Given the description of an element on the screen output the (x, y) to click on. 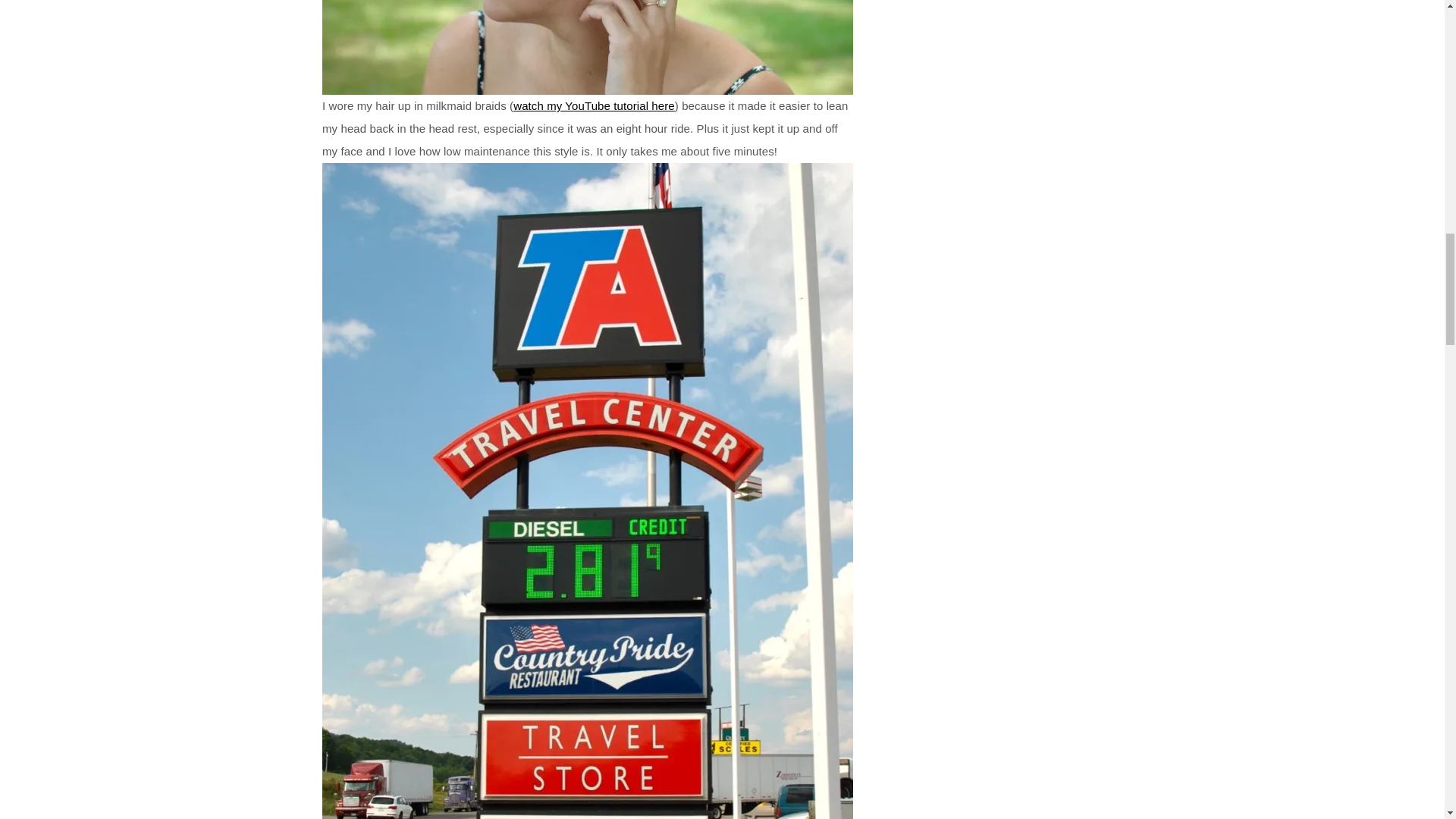
watch my YouTube tutorial here (594, 105)
